Given the description of an element on the screen output the (x, y) to click on. 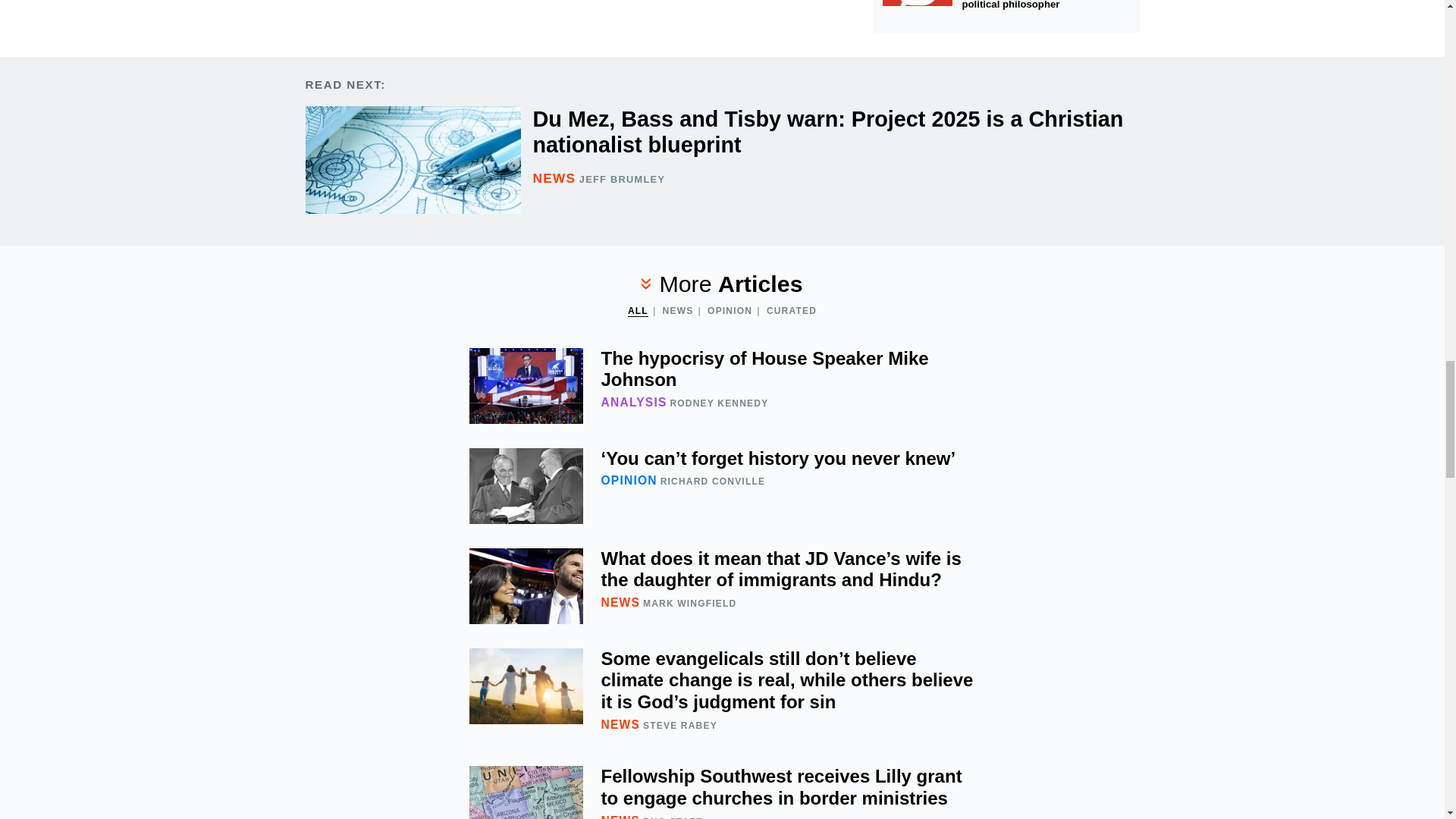
The hypocrisy of House Speaker Mike Johnson (722, 385)
